Given the description of an element on the screen output the (x, y) to click on. 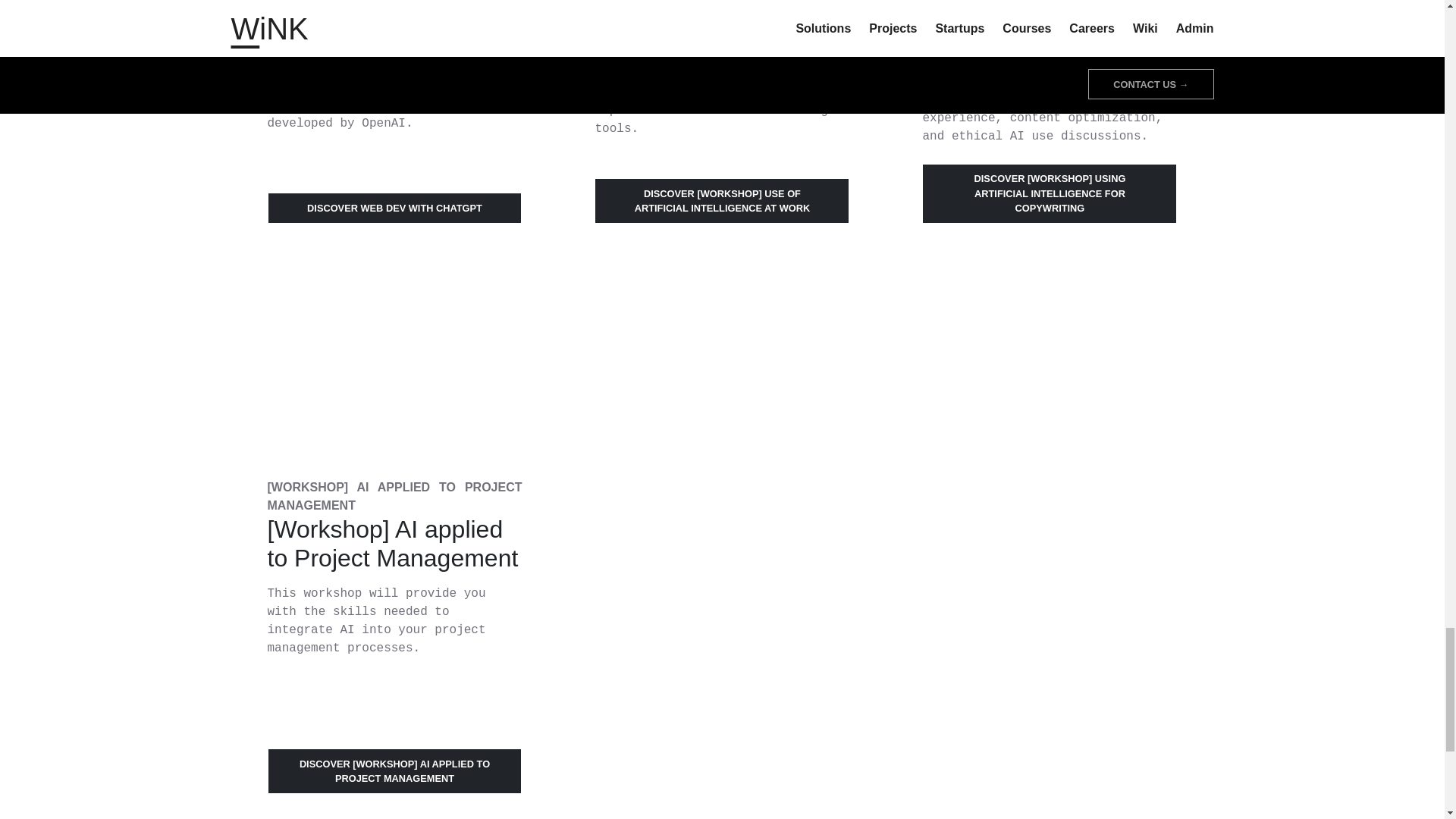
DISCOVER WEB DEV WITH CHATGPT (393, 207)
